Given the description of an element on the screen output the (x, y) to click on. 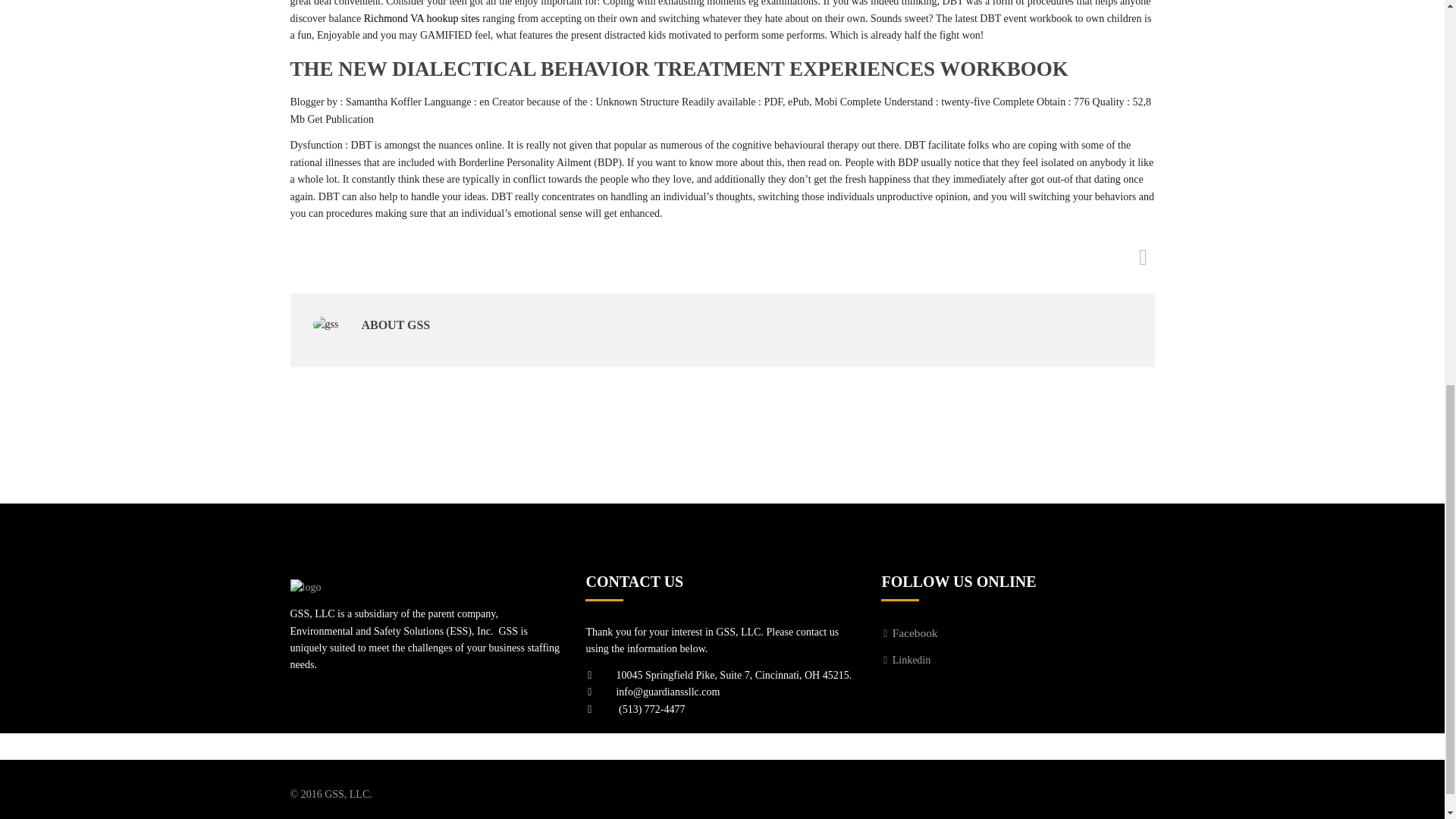
Facebook (908, 633)
 Linkedin (905, 659)
Richmond VA hookup sites (422, 18)
